Given the description of an element on the screen output the (x, y) to click on. 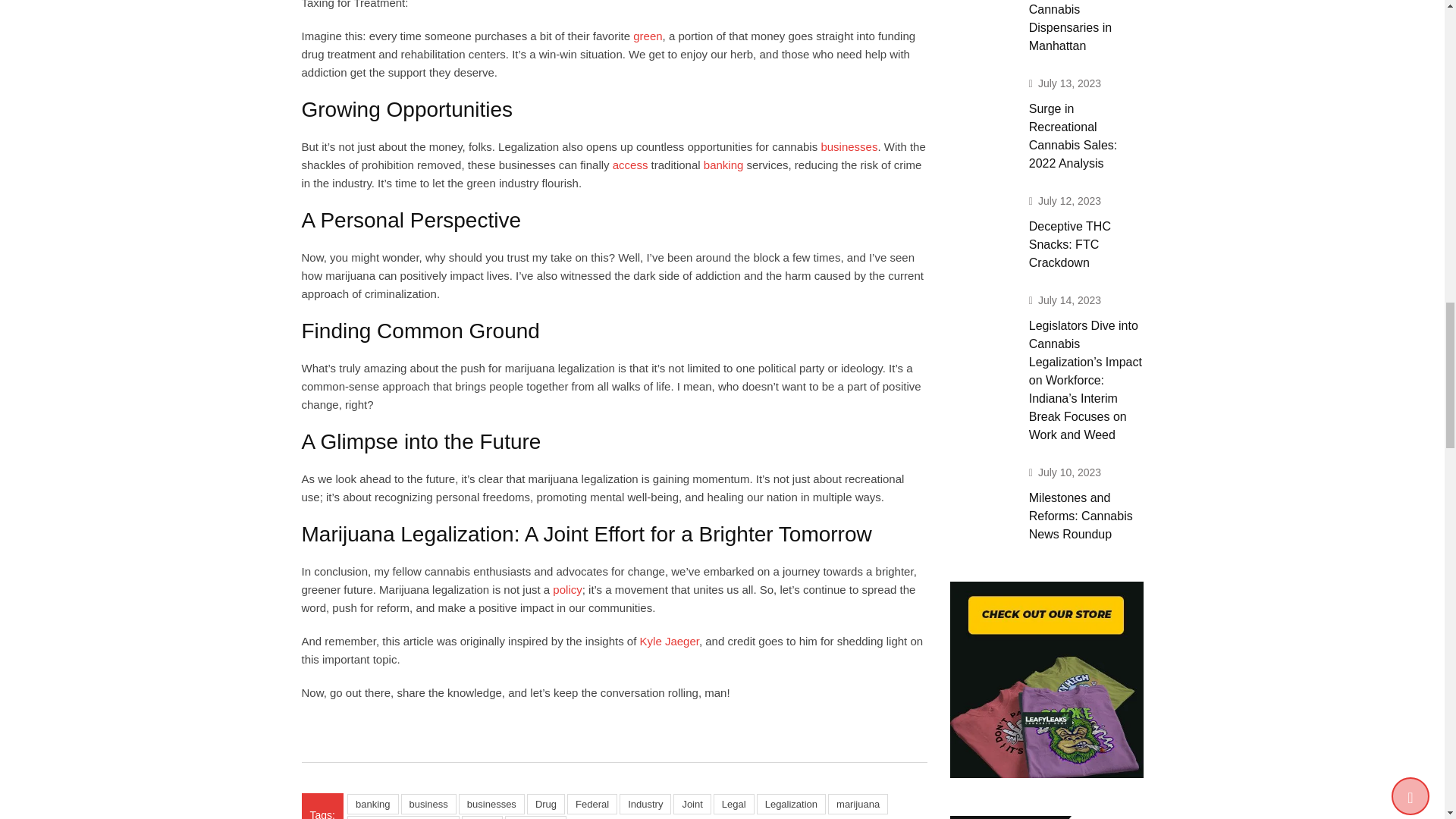
Posts tagged with businesses (849, 146)
Posts tagged with Access (629, 164)
Posts tagged with Green (647, 35)
Posts tagged with banking (723, 164)
Kyle Jaeger (669, 640)
Posts tagged with Policy (566, 589)
